Given the description of an element on the screen output the (x, y) to click on. 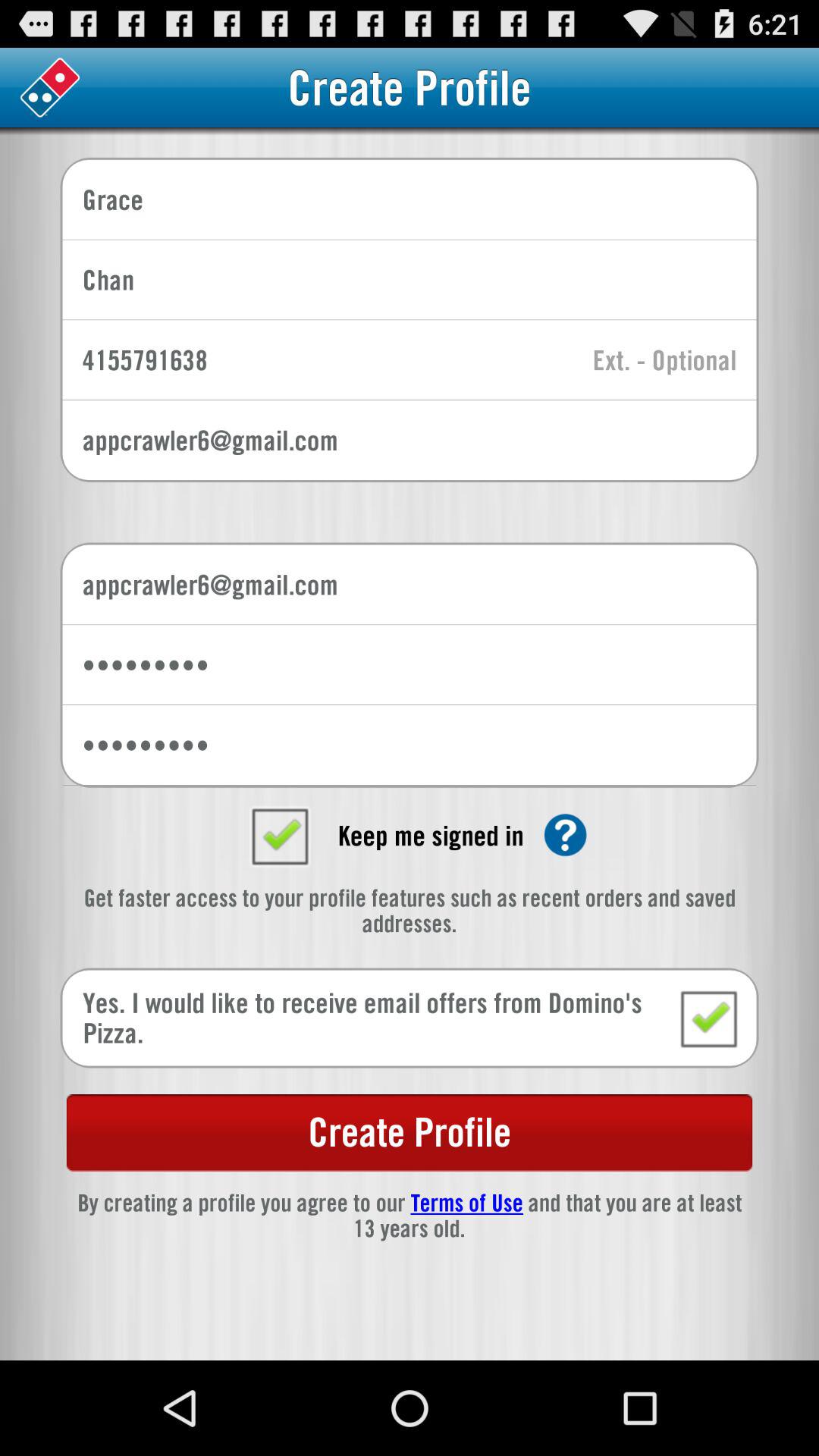
toggle email preference (708, 1017)
